Given the description of an element on the screen output the (x, y) to click on. 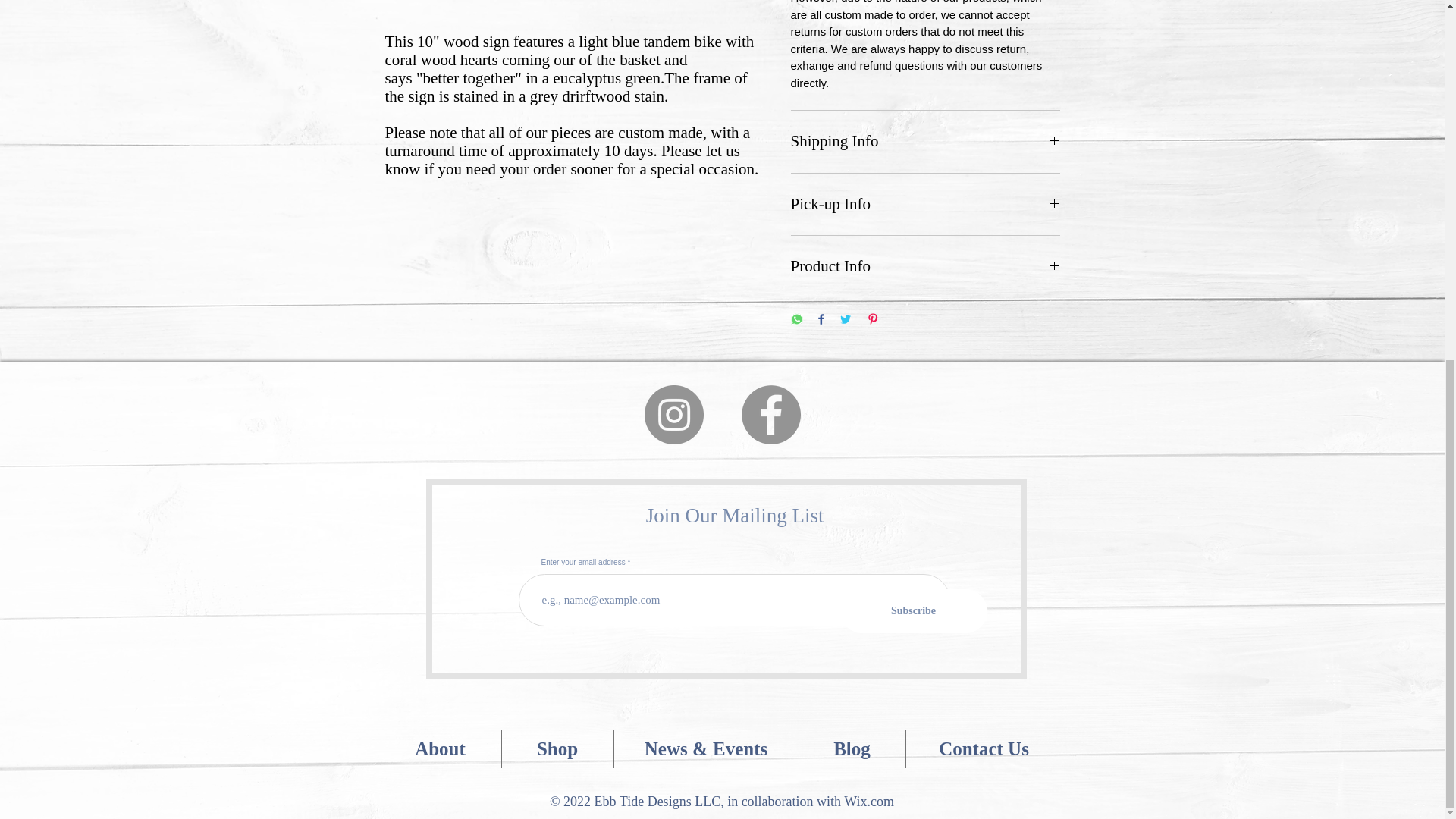
About (439, 749)
Contact Us (983, 749)
Shipping Info (924, 141)
Subscribe (913, 610)
Pick-up Info (924, 204)
Shop (557, 749)
Product Info (924, 266)
Wix.com (868, 801)
Blog (852, 749)
